Given the description of an element on the screen output the (x, y) to click on. 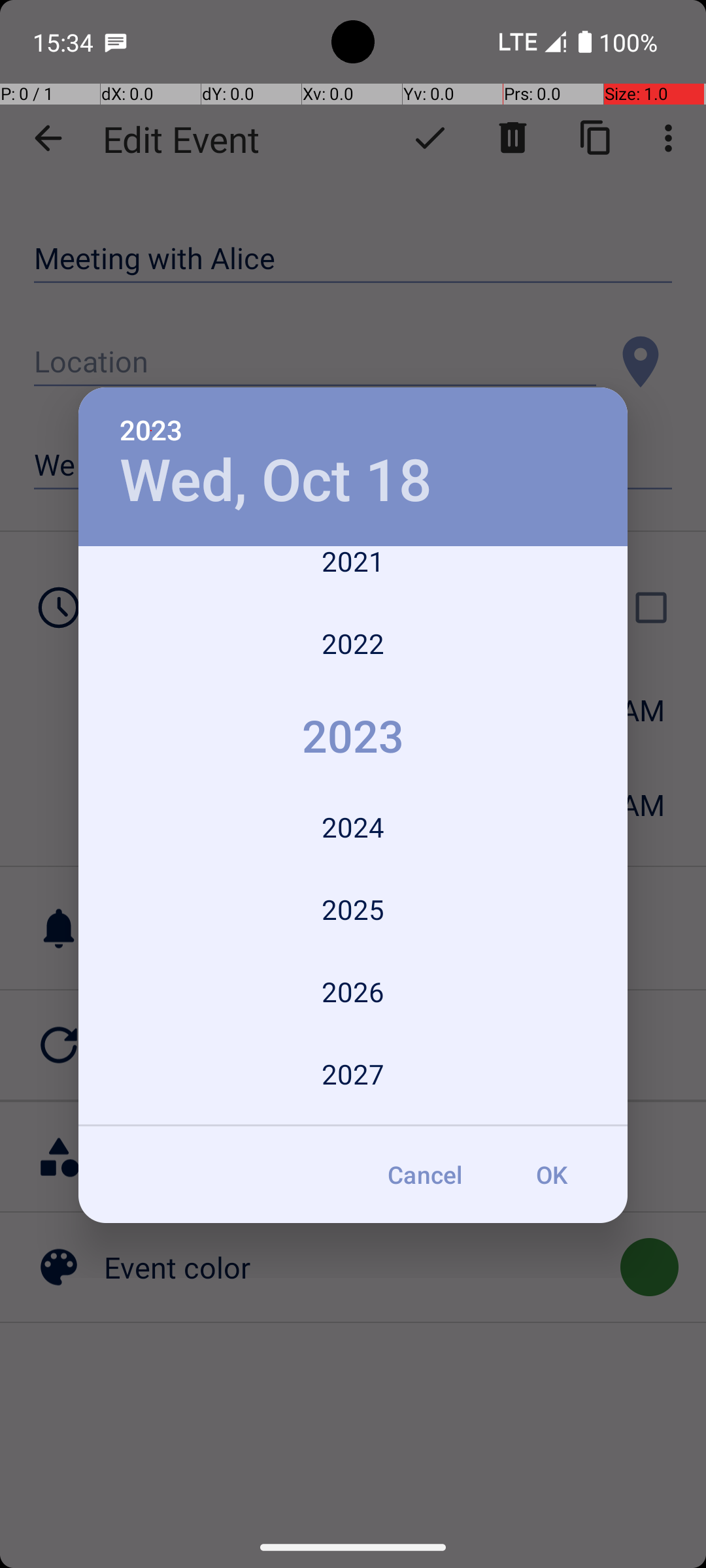
Wed, Oct 18 Element type: android.widget.TextView (275, 480)
2021 Element type: android.widget.TextView (352, 574)
2027 Element type: android.widget.TextView (352, 1073)
2028 Element type: android.widget.TextView (352, 1120)
